Given the description of an element on the screen output the (x, y) to click on. 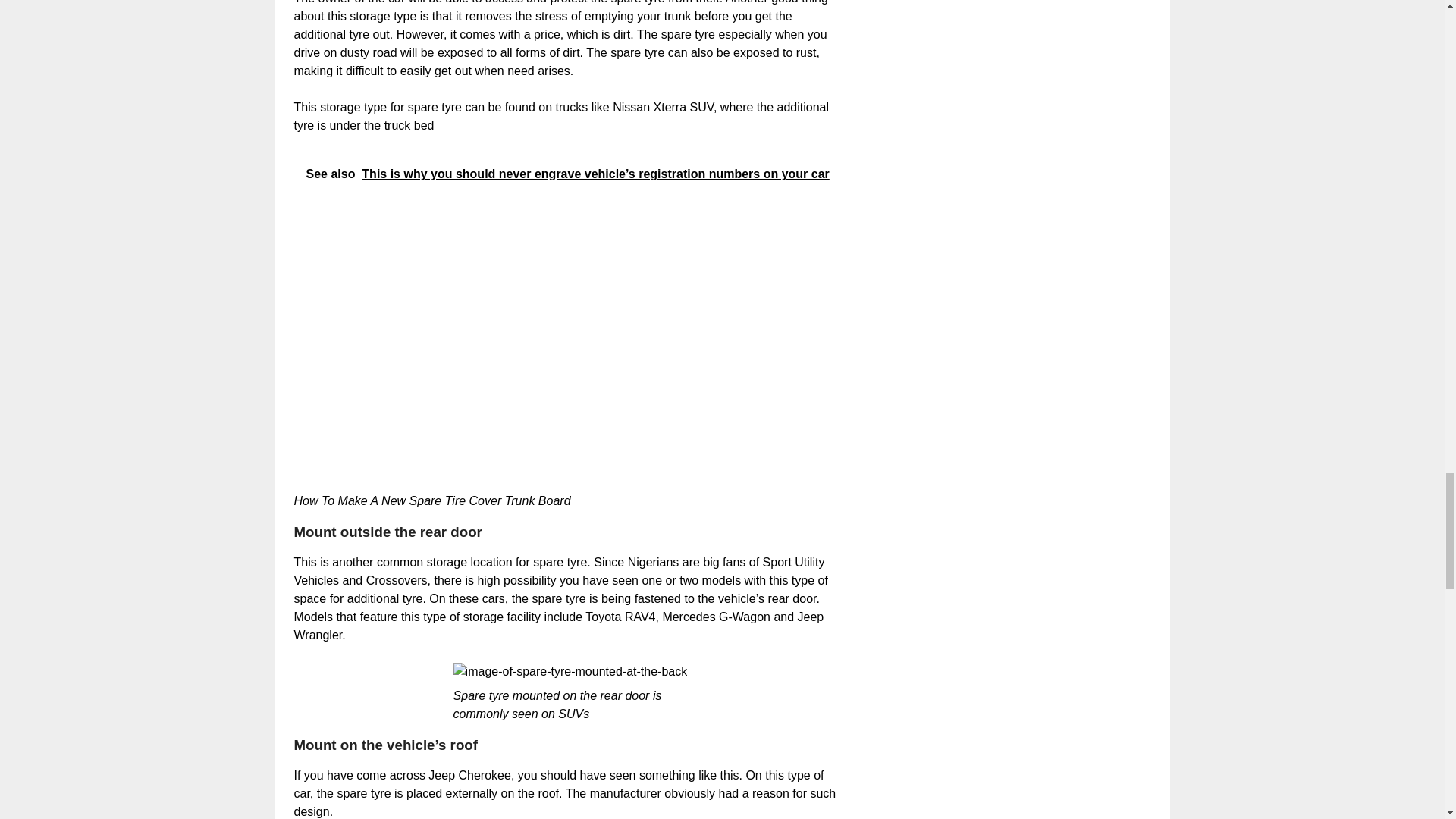
How To Make A New Spare Tire Cover Trunk Board (536, 344)
